Given the description of an element on the screen output the (x, y) to click on. 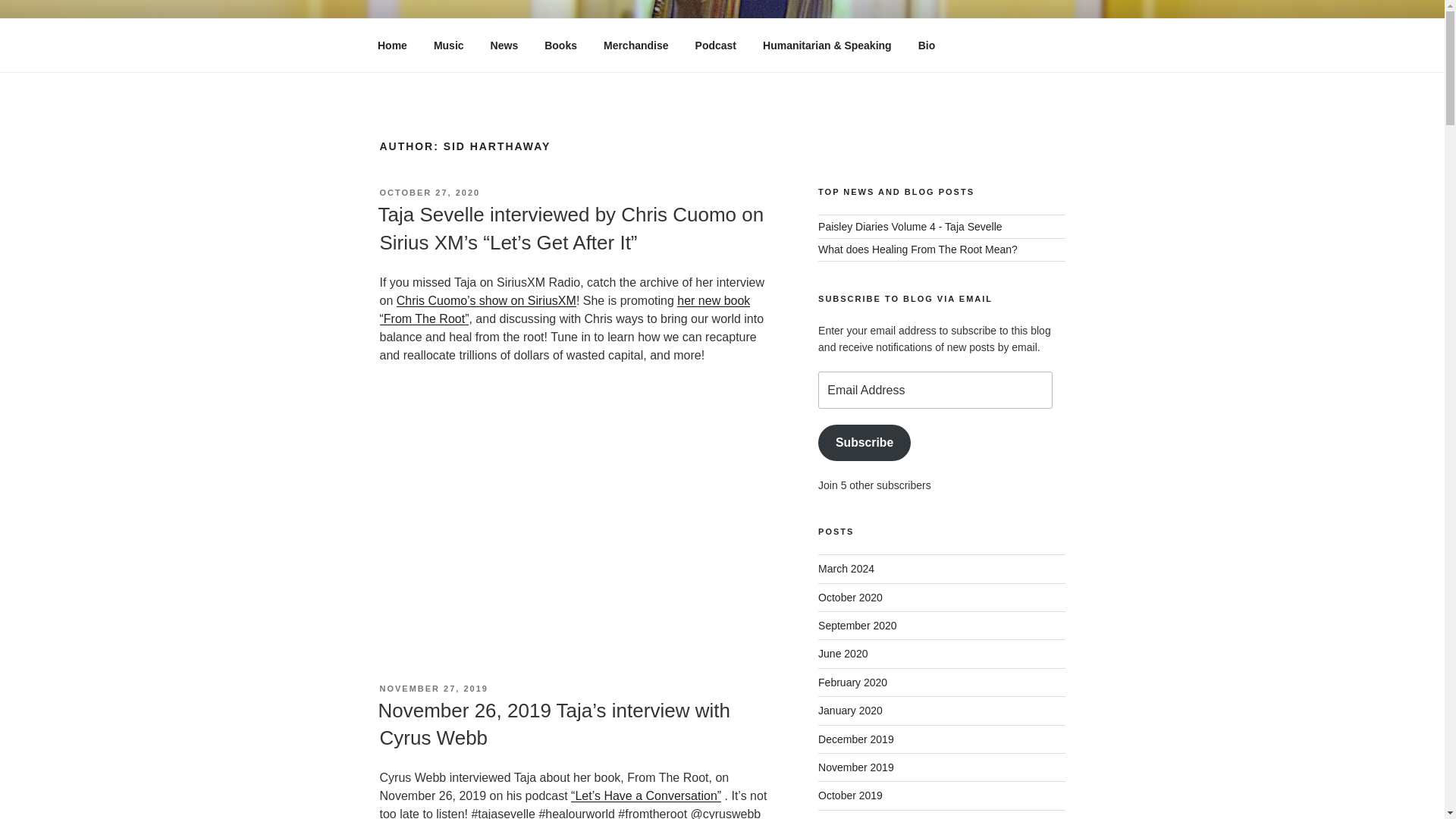
NOVEMBER 27, 2019 (432, 687)
Music (448, 45)
Home (392, 45)
Merchandise (635, 45)
Podcast (715, 45)
Bio (926, 45)
Books (561, 45)
News (504, 45)
TAJASEVELLE.COM (527, 52)
OCTOBER 27, 2020 (429, 192)
